Given the description of an element on the screen output the (x, y) to click on. 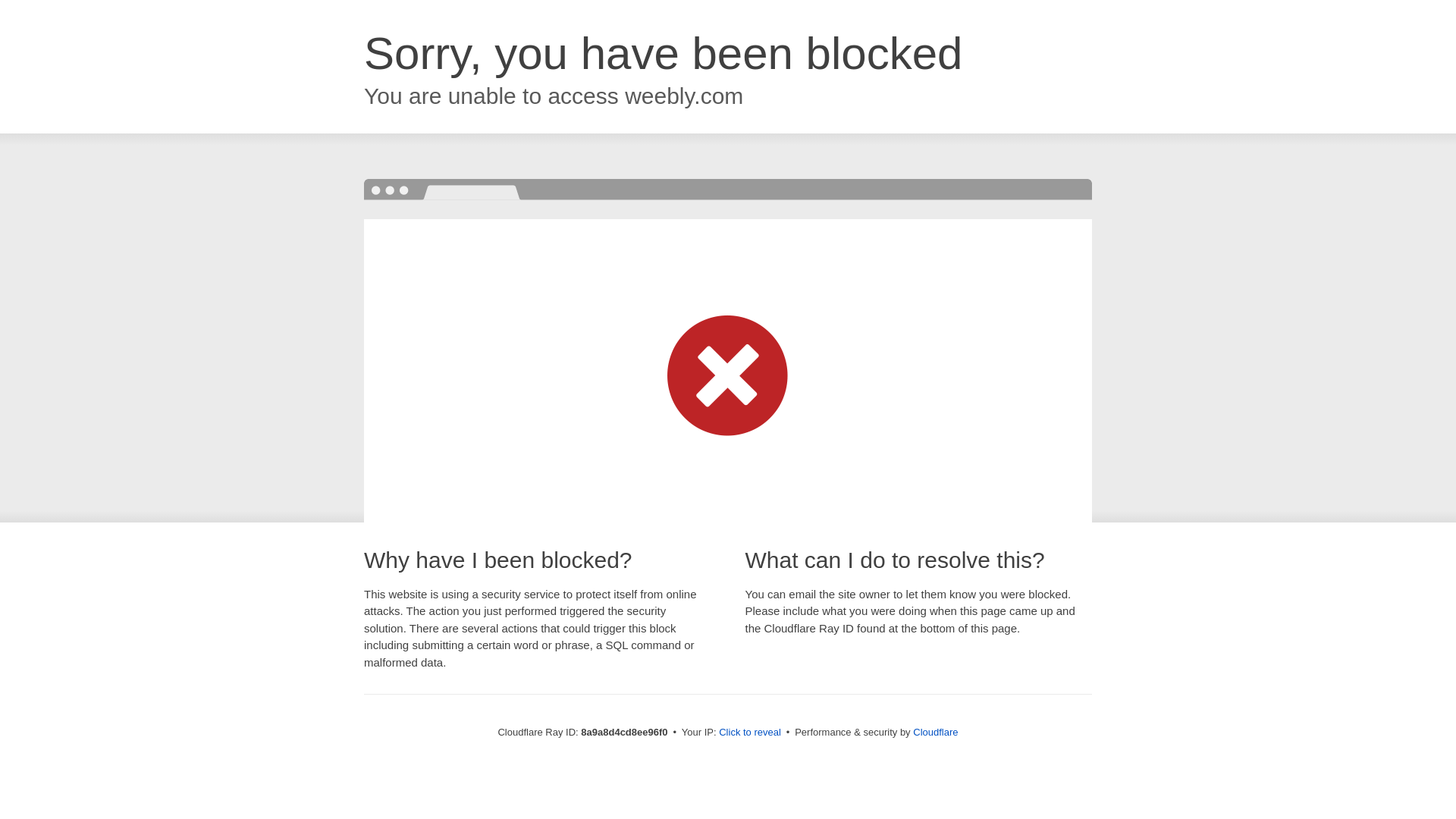
Cloudflare (935, 731)
Click to reveal (749, 732)
